Given the description of an element on the screen output the (x, y) to click on. 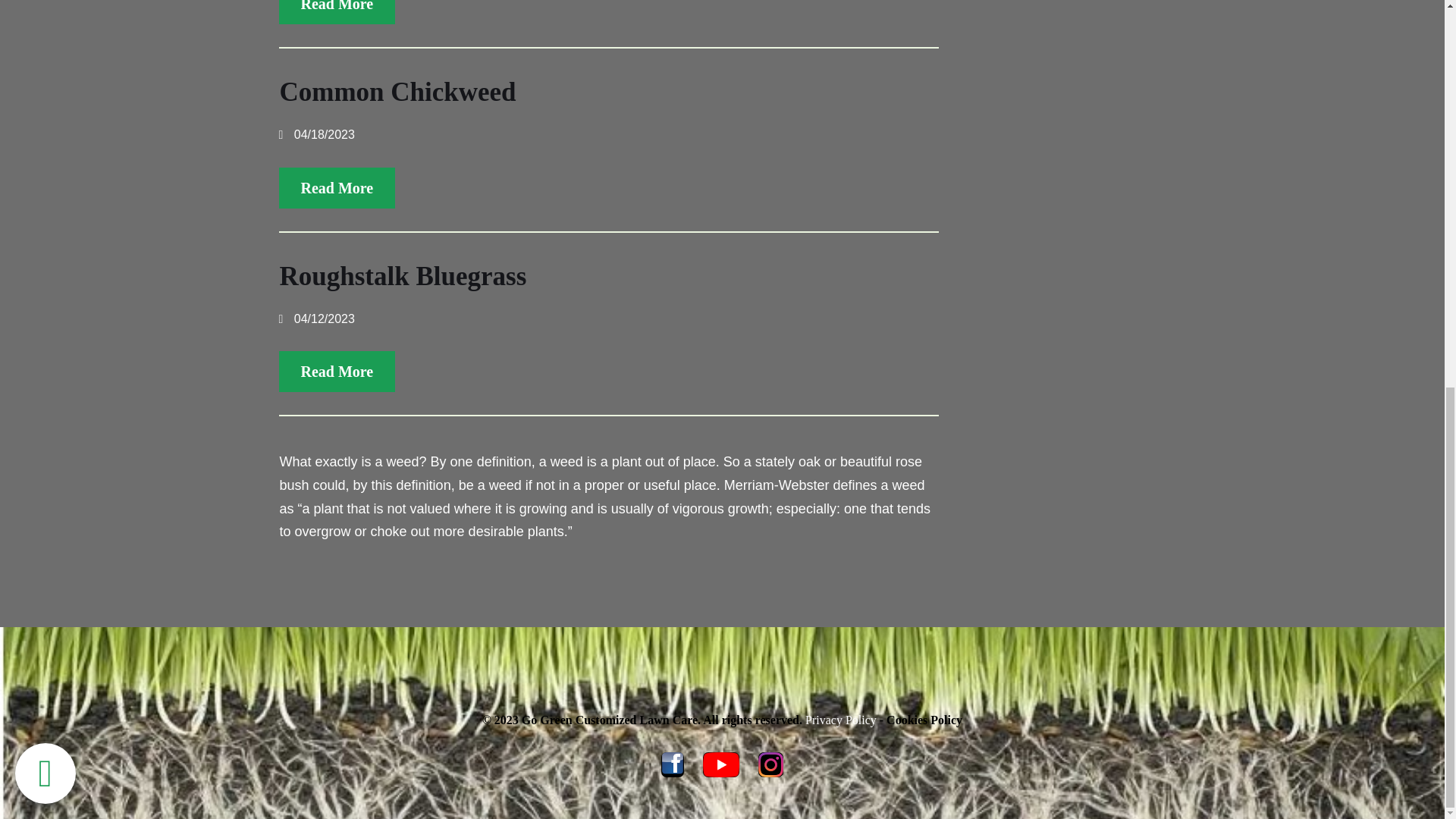
Read More (337, 187)
Read More (337, 371)
Common Chickweed (397, 91)
Read More (337, 12)
Roughstalk Bluegrass (402, 276)
